Given the description of an element on the screen output the (x, y) to click on. 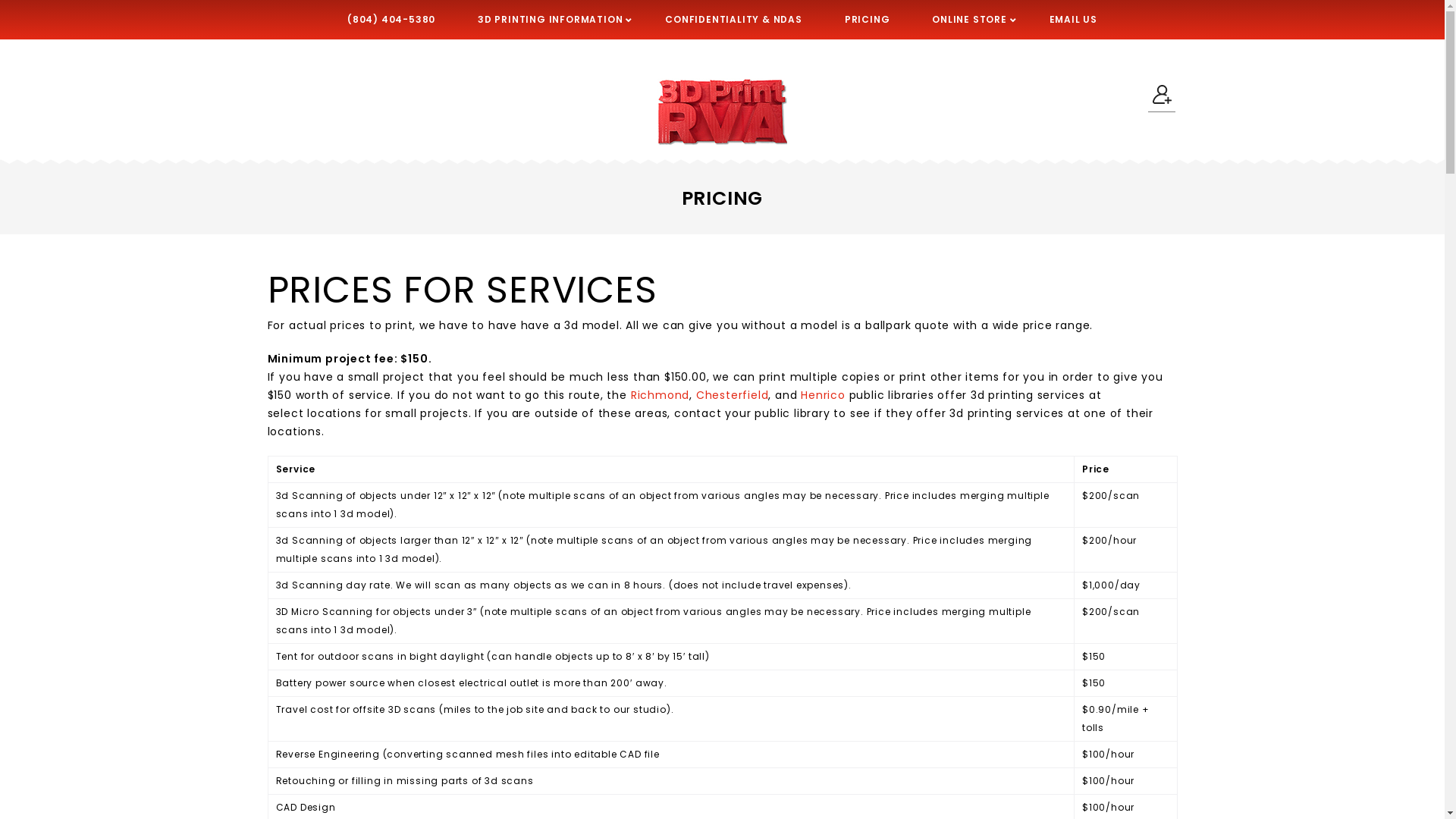
(804) 404-5380 Element type: text (391, 19)
3D PRINTING INFORMATION Element type: text (549, 19)
PRICING Element type: text (867, 19)
CONFIDENTIALITY & NDAS Element type: text (733, 19)
Richmond Element type: text (659, 394)
EMAIL US Element type: text (1073, 19)
Henrico Element type: text (822, 394)
ONLINE STORE Element type: text (969, 19)
3D Print RVA Element type: hover (722, 112)
Chesterfield Element type: text (732, 394)
